Given the description of an element on the screen output the (x, y) to click on. 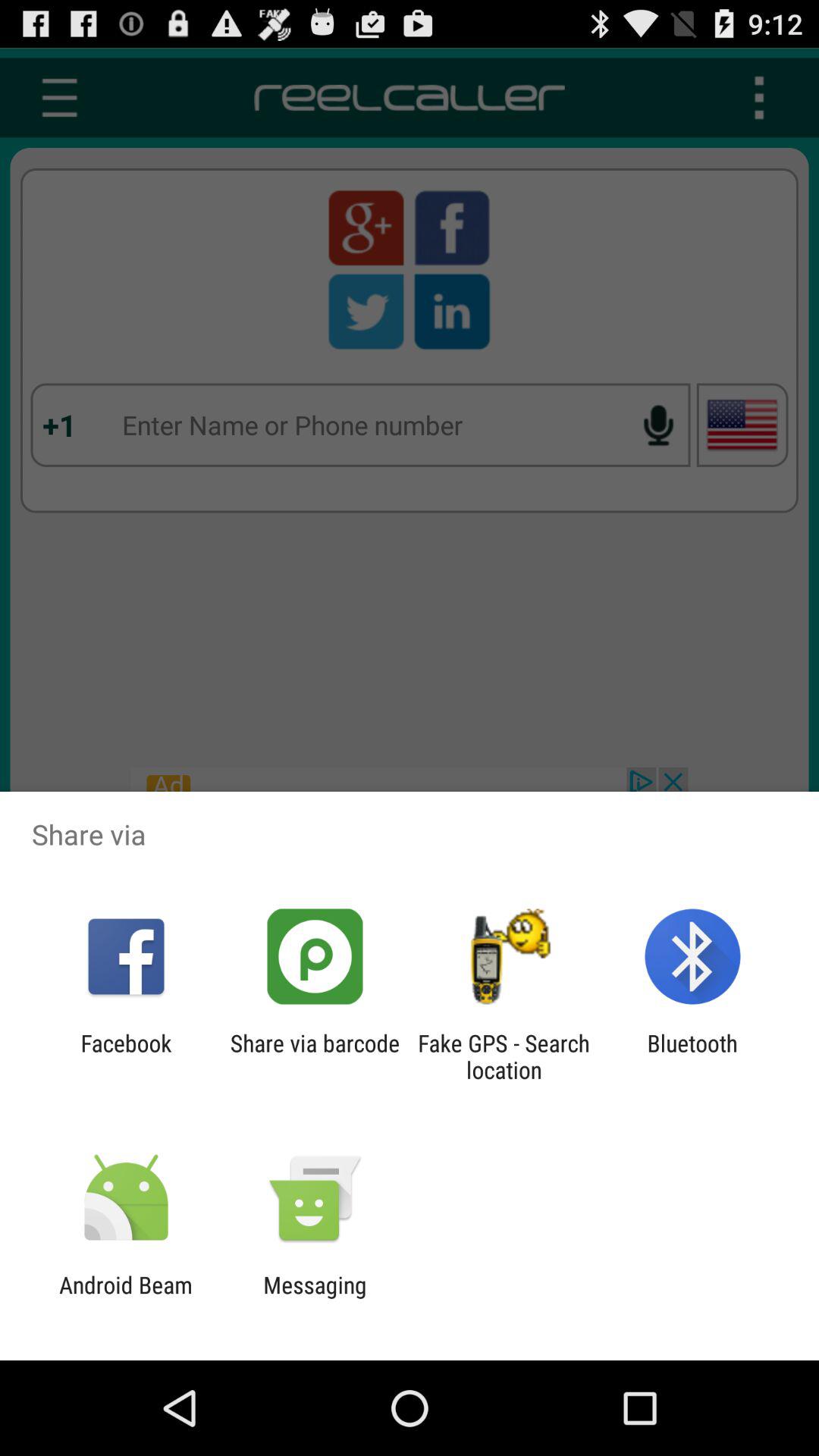
launch the item next to share via barcode icon (125, 1056)
